Given the description of an element on the screen output the (x, y) to click on. 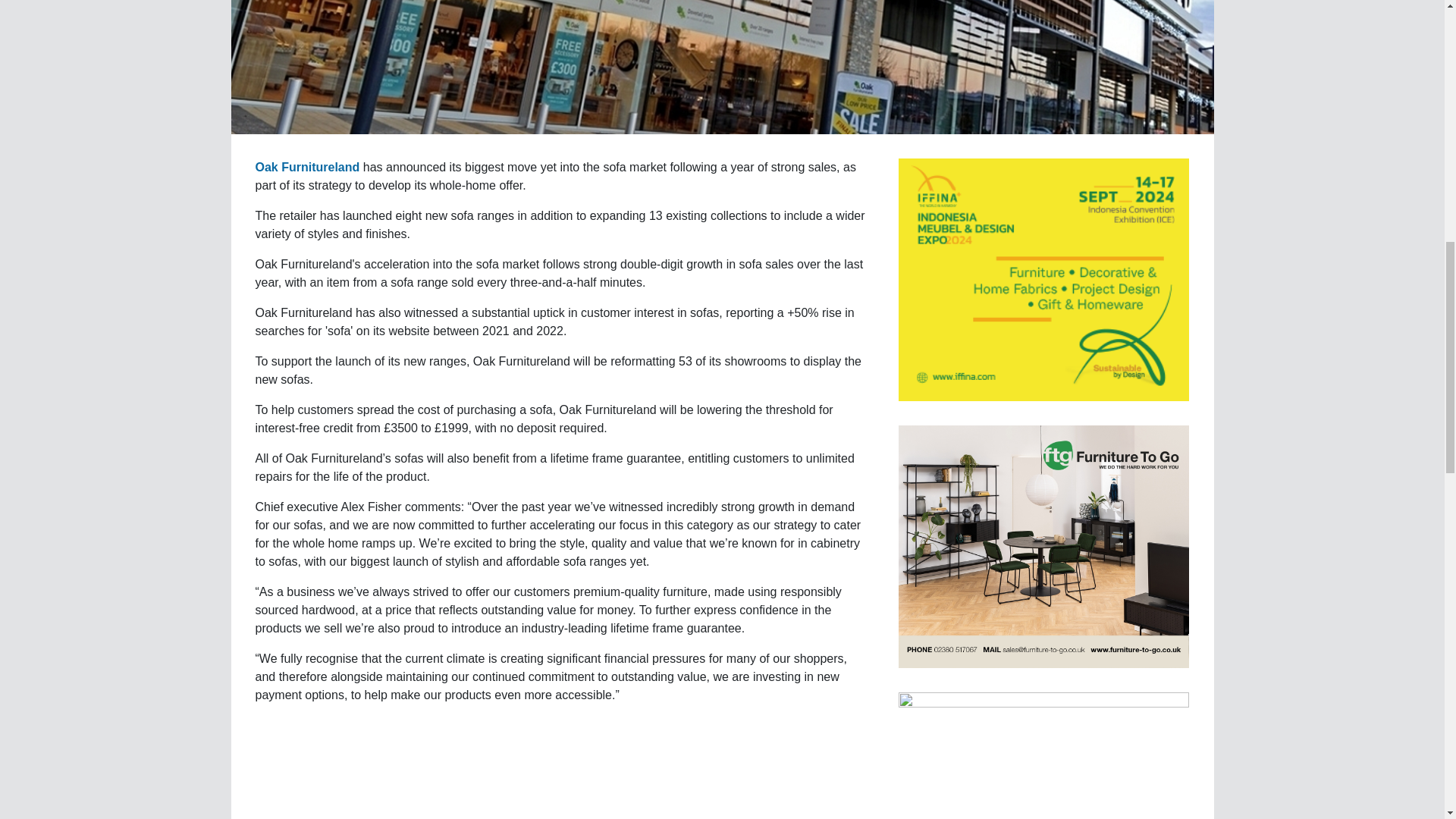
Oak Furnitureland (306, 166)
